Given the description of an element on the screen output the (x, y) to click on. 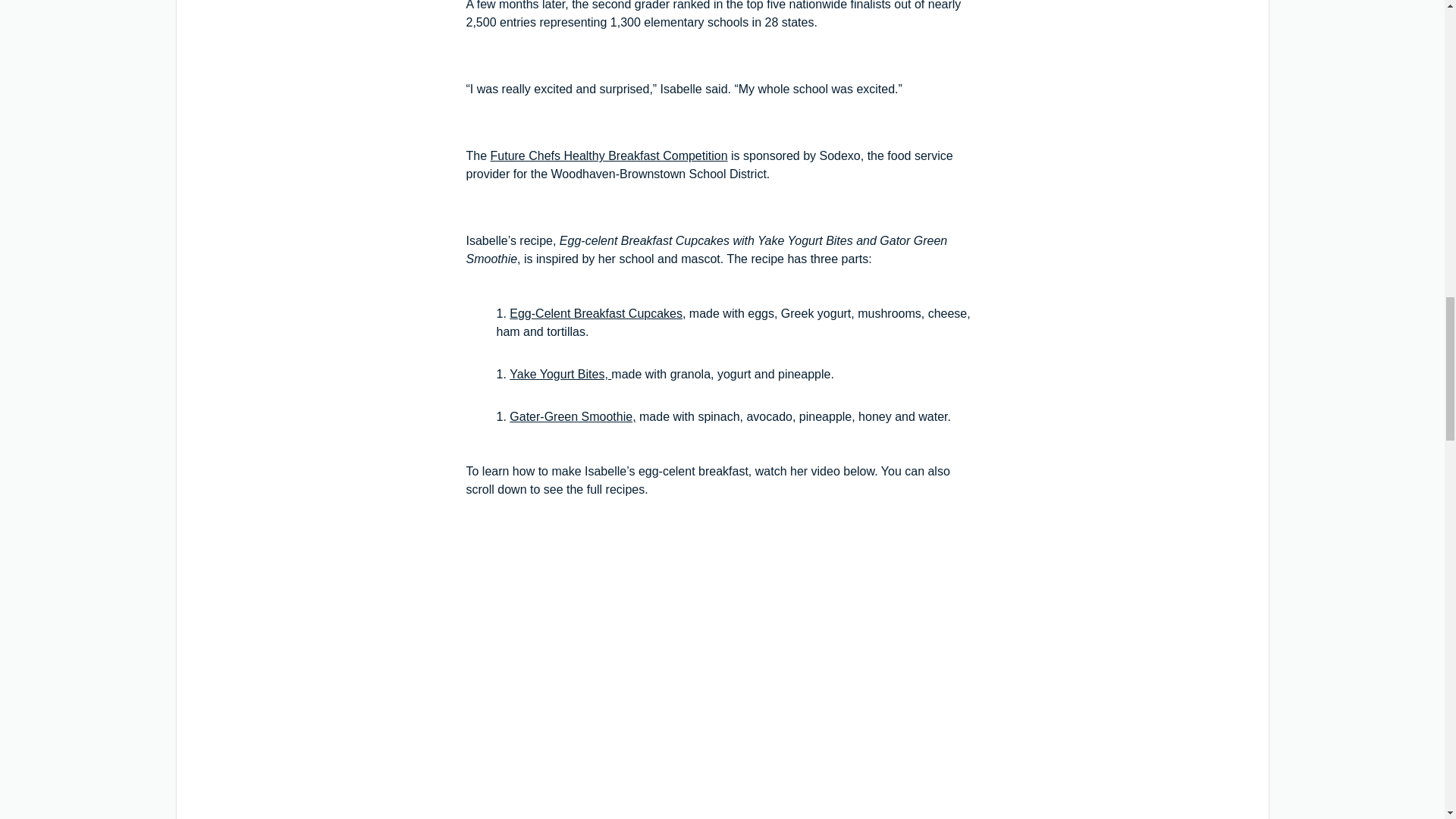
Future Chefs Healthy Breakfast Competition (609, 155)
